Given the description of an element on the screen output the (x, y) to click on. 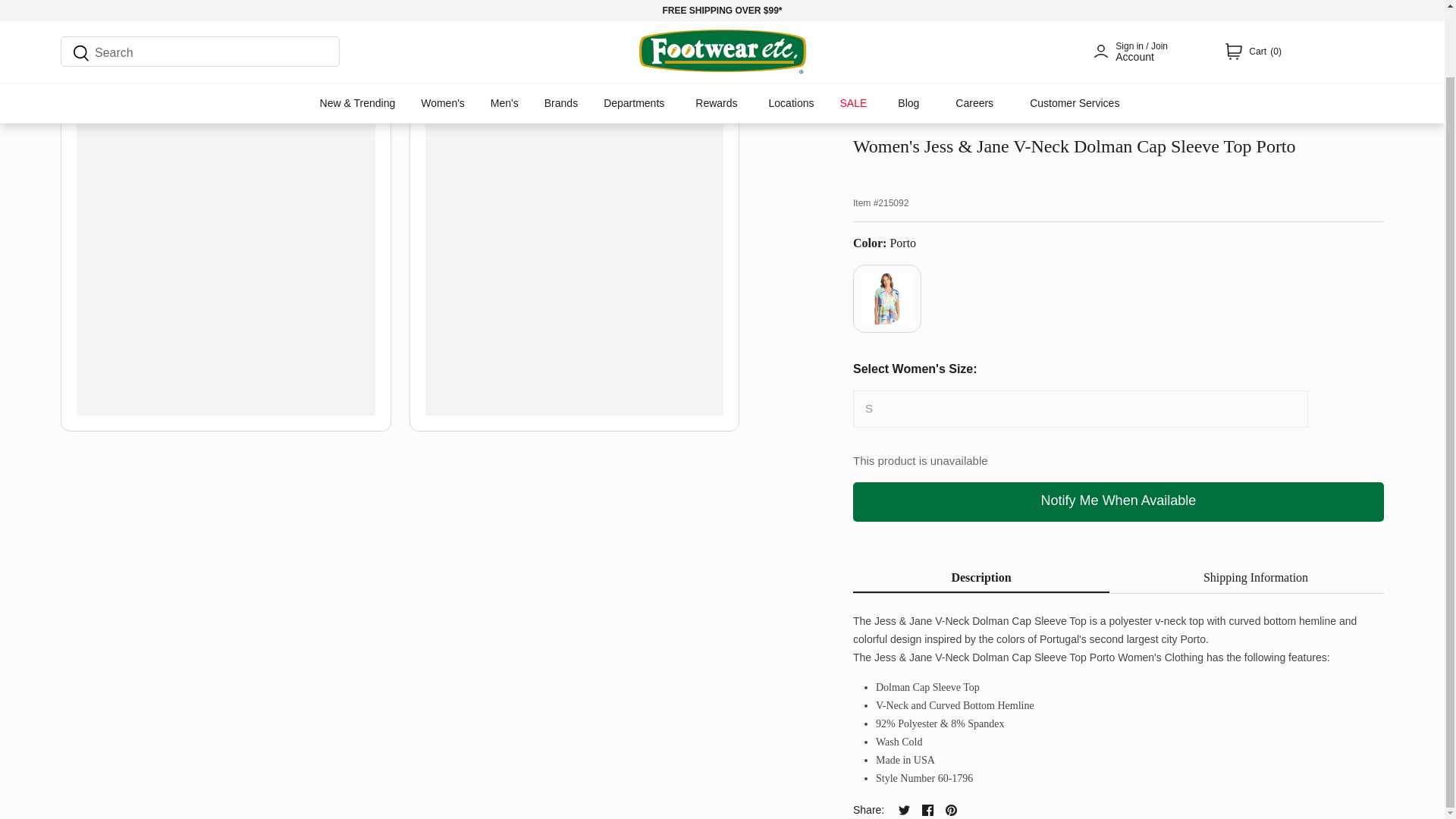
Twitter (904, 809)
Pinterest (950, 809)
Facebook (927, 809)
